Given the description of an element on the screen output the (x, y) to click on. 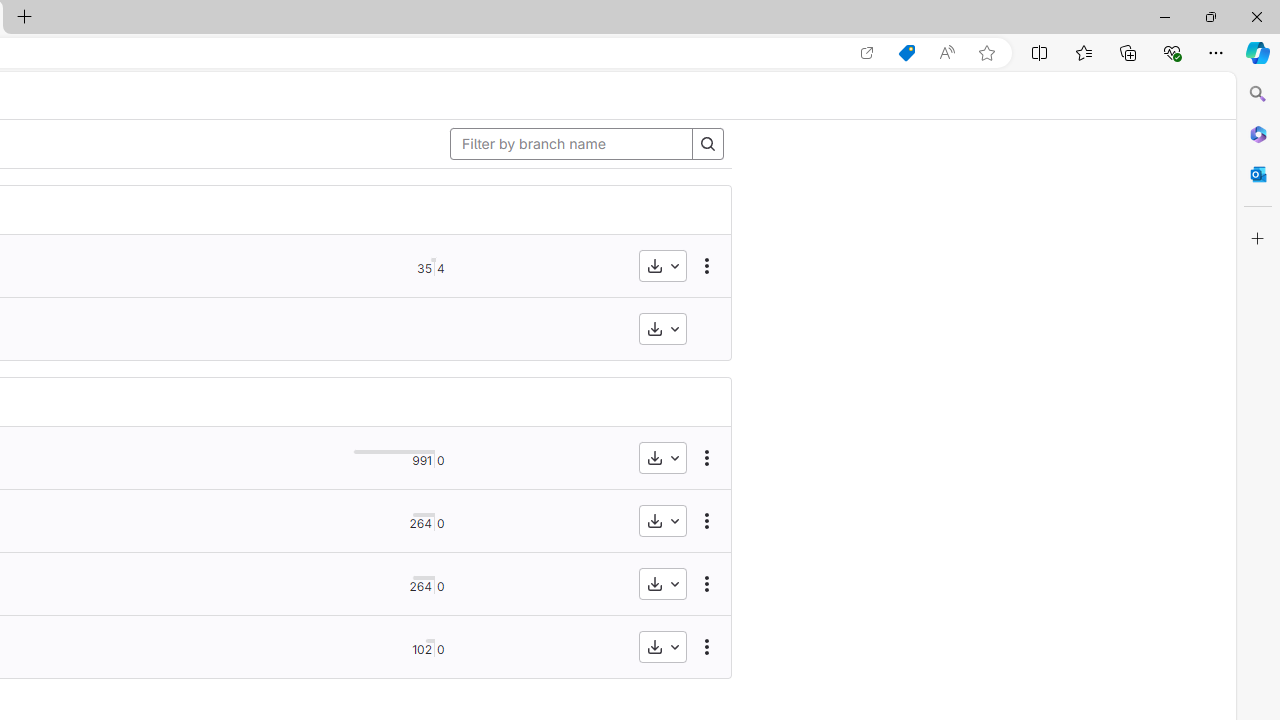
Filter by branch name (571, 143)
Favorites (1083, 52)
Copilot (Ctrl+Shift+.) (1258, 52)
Split screen (1039, 52)
Open in app (867, 53)
Read aloud this page (Ctrl+Shift+U) (946, 53)
